Given the description of an element on the screen output the (x, y) to click on. 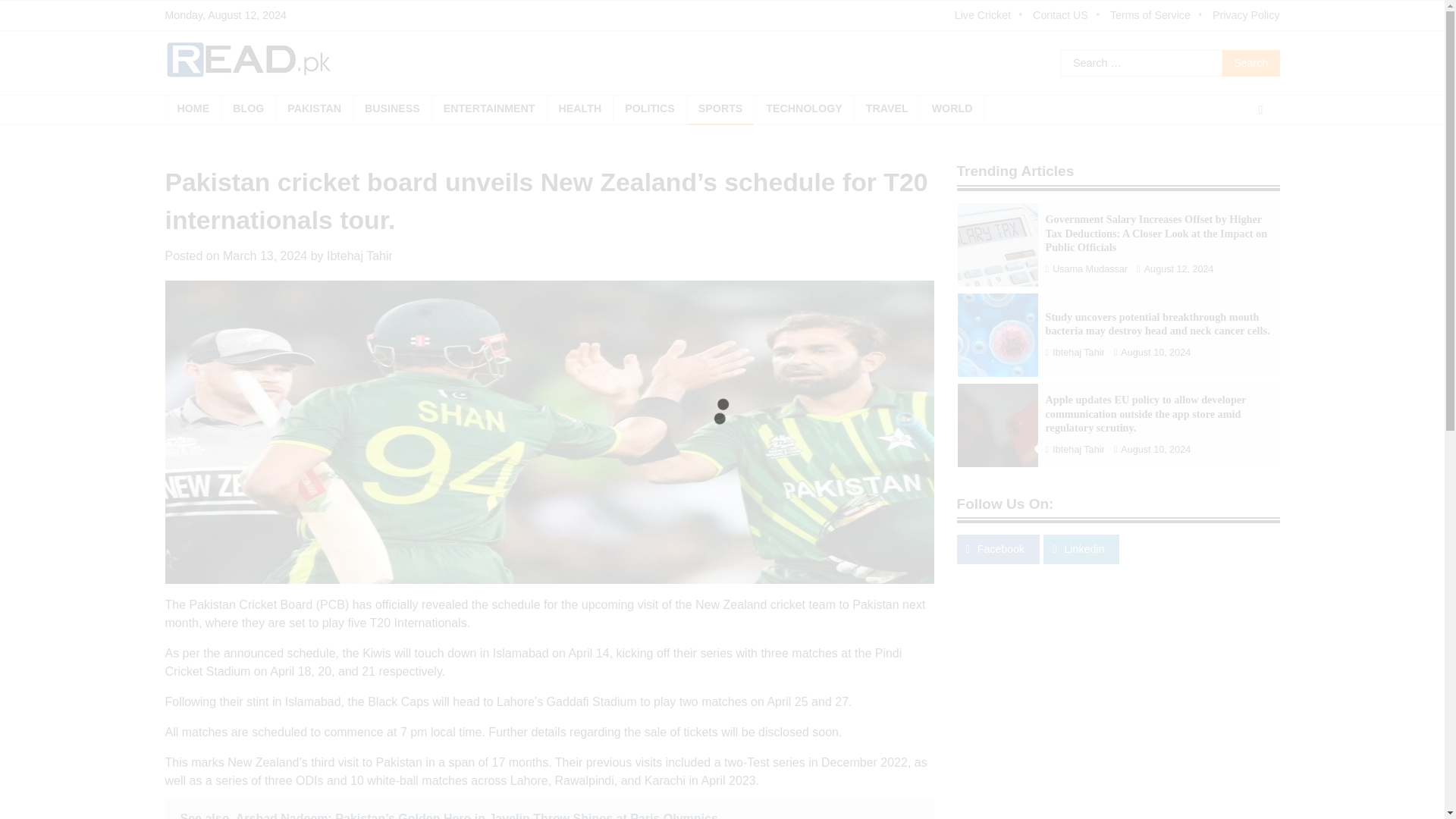
Contact US (1067, 15)
Privacy Policy (1245, 15)
Ibtehaj Tahir (359, 255)
WORLD (952, 108)
TRAVEL (886, 108)
HEALTH (579, 108)
HOME (193, 108)
POLITICS (648, 108)
Terms of Service (1157, 15)
View Random Post (1260, 109)
